Given the description of an element on the screen output the (x, y) to click on. 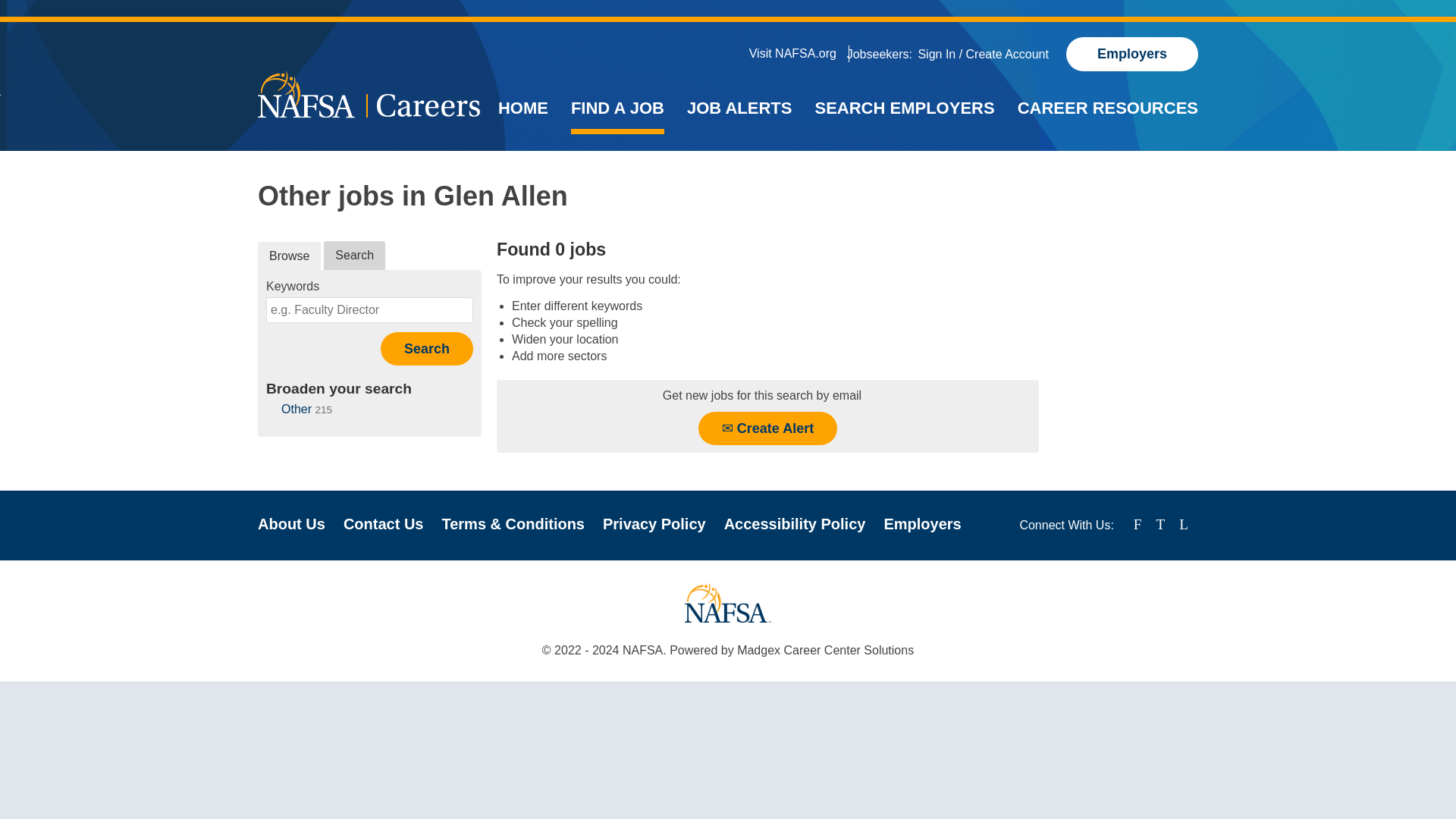
Employers (921, 523)
Other (296, 408)
Privacy Policy (654, 523)
FIND A JOB (616, 110)
Search (426, 348)
Create Alert (767, 428)
HOME (522, 110)
Madgex Career Center Solutions (825, 649)
NAFSA Careers (368, 95)
Search (354, 255)
Contact Us (383, 523)
CAREER RESOURCES (1107, 110)
SEARCH EMPLOYERS (903, 110)
Browse (288, 256)
Accessibility Policy (794, 523)
